Given the description of an element on the screen output the (x, y) to click on. 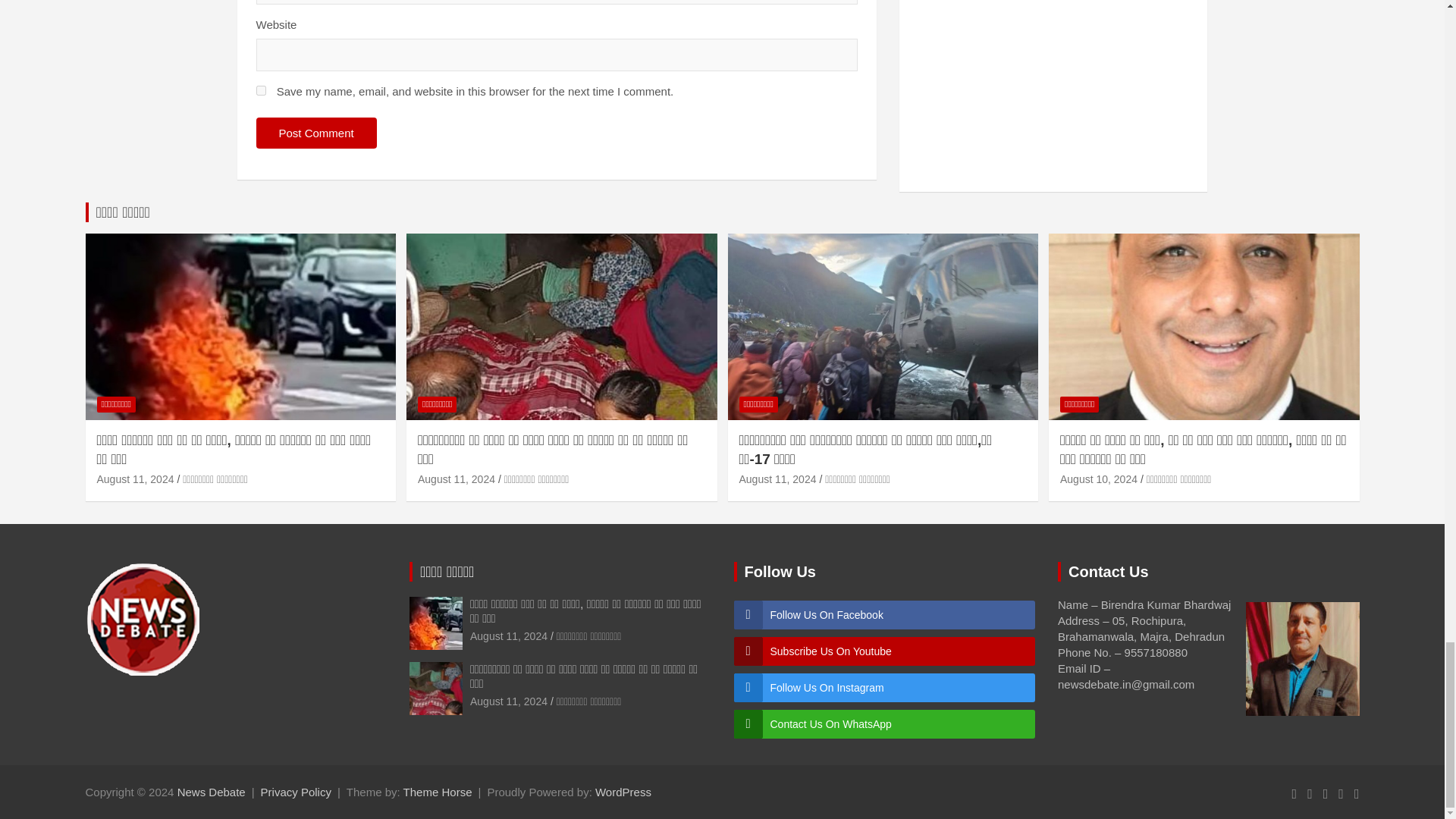
Post Comment (316, 132)
Theme Horse (437, 791)
WordPress (622, 791)
News Debate (211, 791)
yes (261, 90)
Post Comment (316, 132)
